Given the description of an element on the screen output the (x, y) to click on. 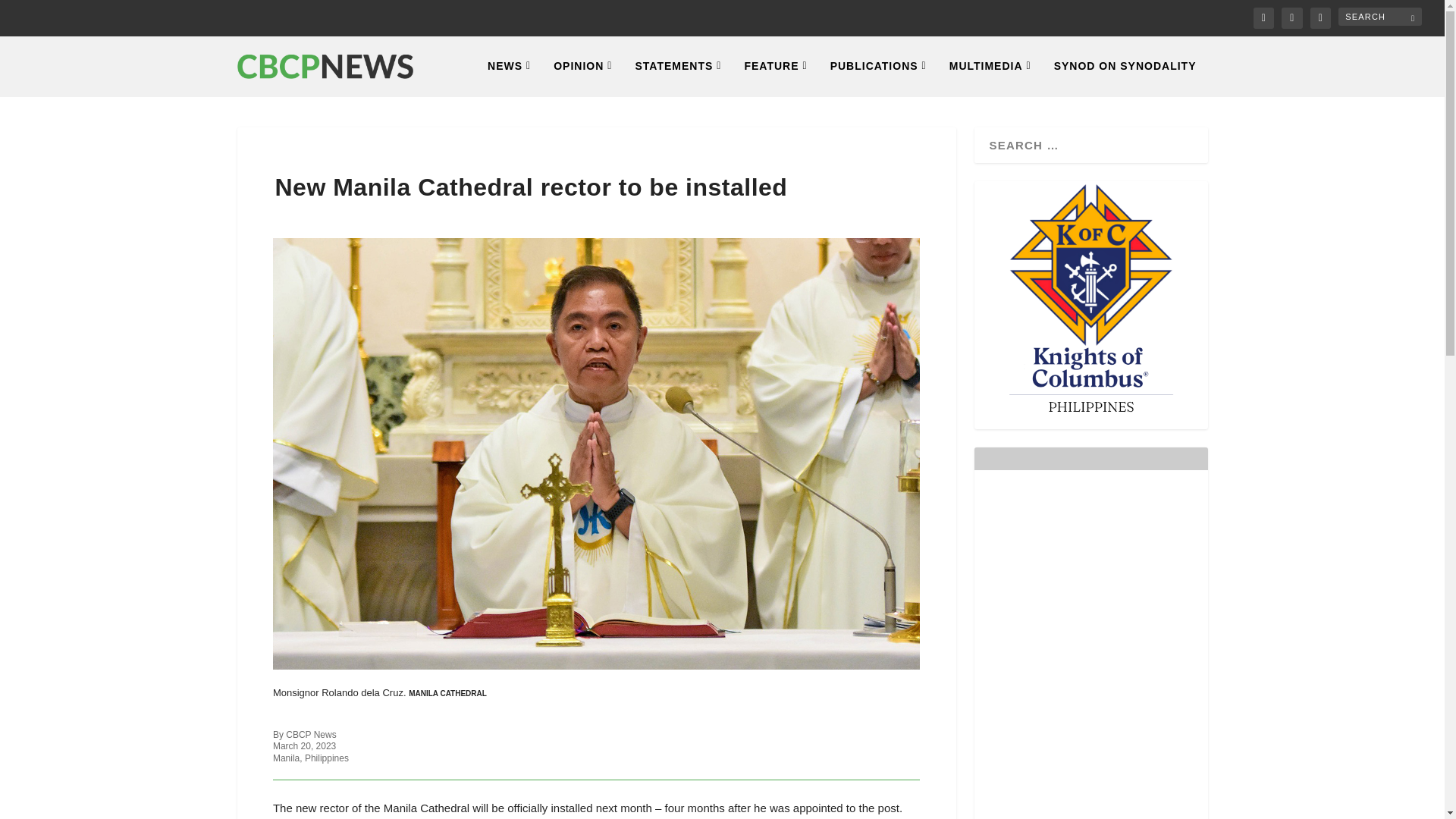
Search for: (1380, 16)
STATEMENTS (677, 77)
NEWS (509, 77)
PUBLICATIONS (877, 77)
FEATURE (775, 77)
OPINION (582, 77)
